Given the description of an element on the screen output the (x, y) to click on. 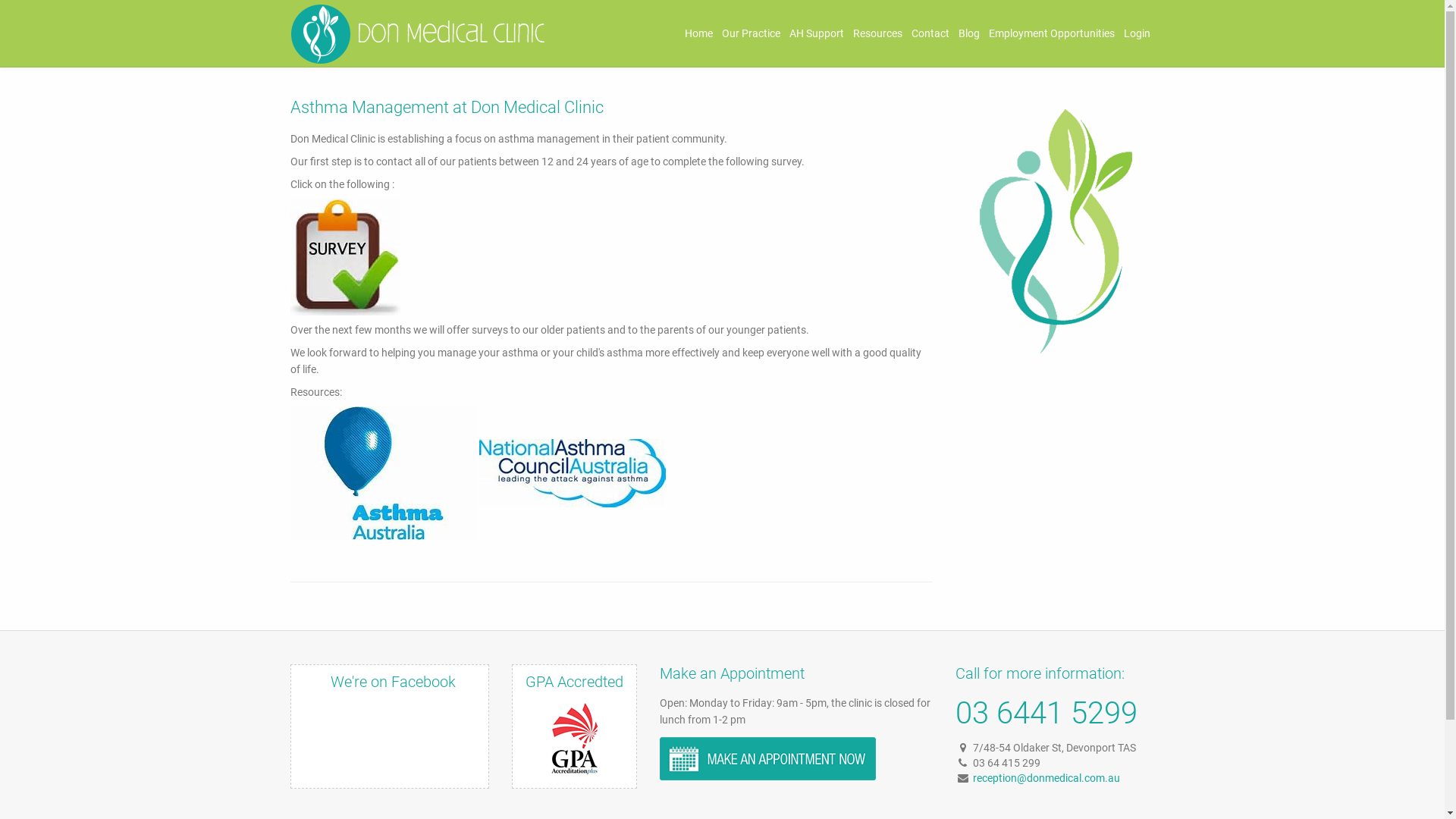
Employment Opportunities Element type: text (1051, 33)
Resources Element type: text (876, 33)
reception@donmedical.com.au Element type: text (1046, 777)
Blog Element type: text (968, 33)
Home Element type: text (697, 33)
Contact Element type: text (929, 33)
AH Support Element type: text (815, 33)
Login Element type: text (1136, 33)
Our Practice Element type: text (750, 33)
